Given the description of an element on the screen output the (x, y) to click on. 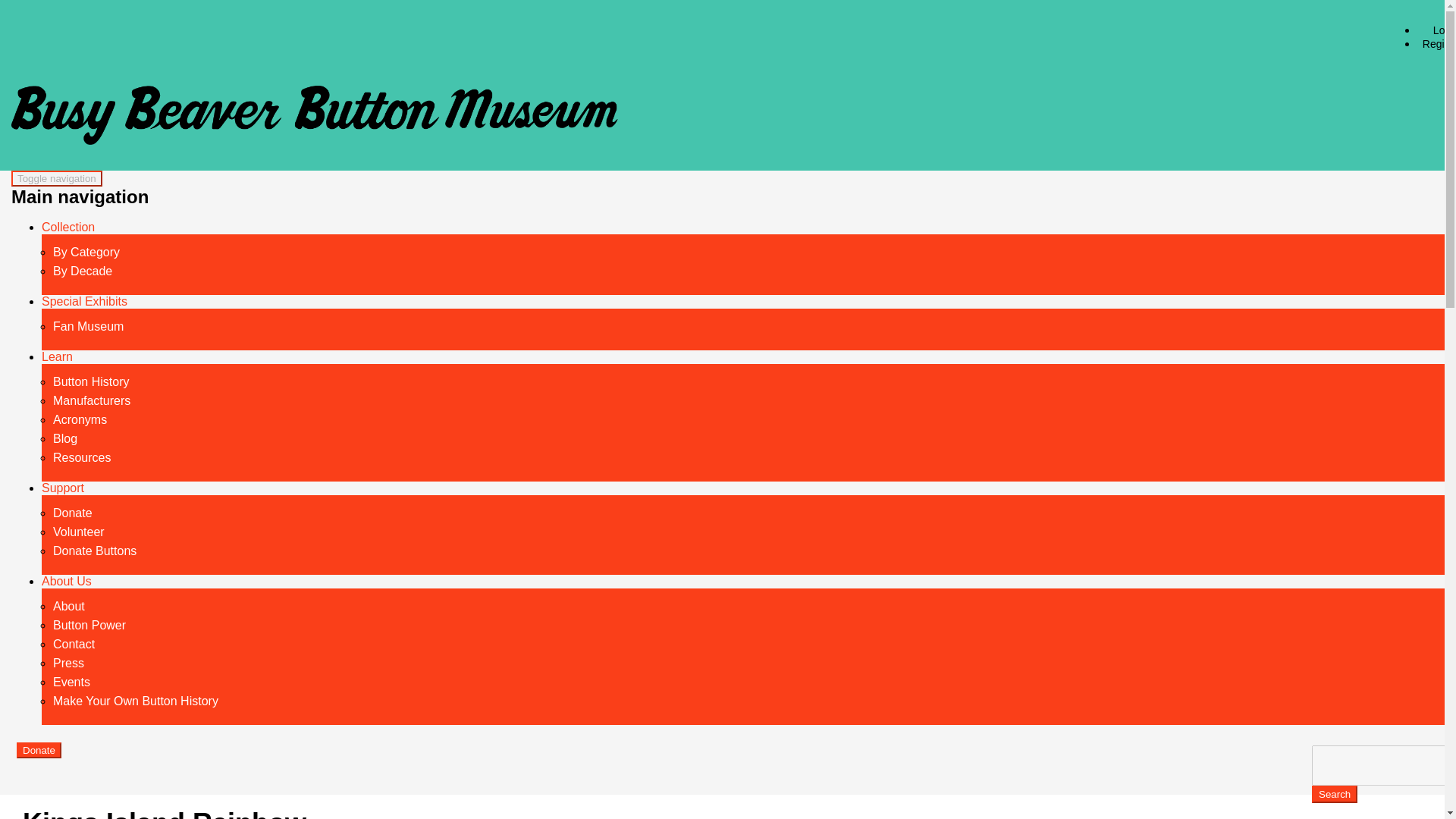
About (68, 604)
Donate (72, 512)
Register (1436, 43)
By Category (85, 251)
Log in (1442, 29)
Learn (57, 356)
Toggle navigation (56, 178)
Button Power (88, 625)
Volunteer (78, 530)
About Us (66, 581)
Acronyms (79, 418)
Resources (81, 456)
Contact (73, 643)
Button History (90, 380)
